Given the description of an element on the screen output the (x, y) to click on. 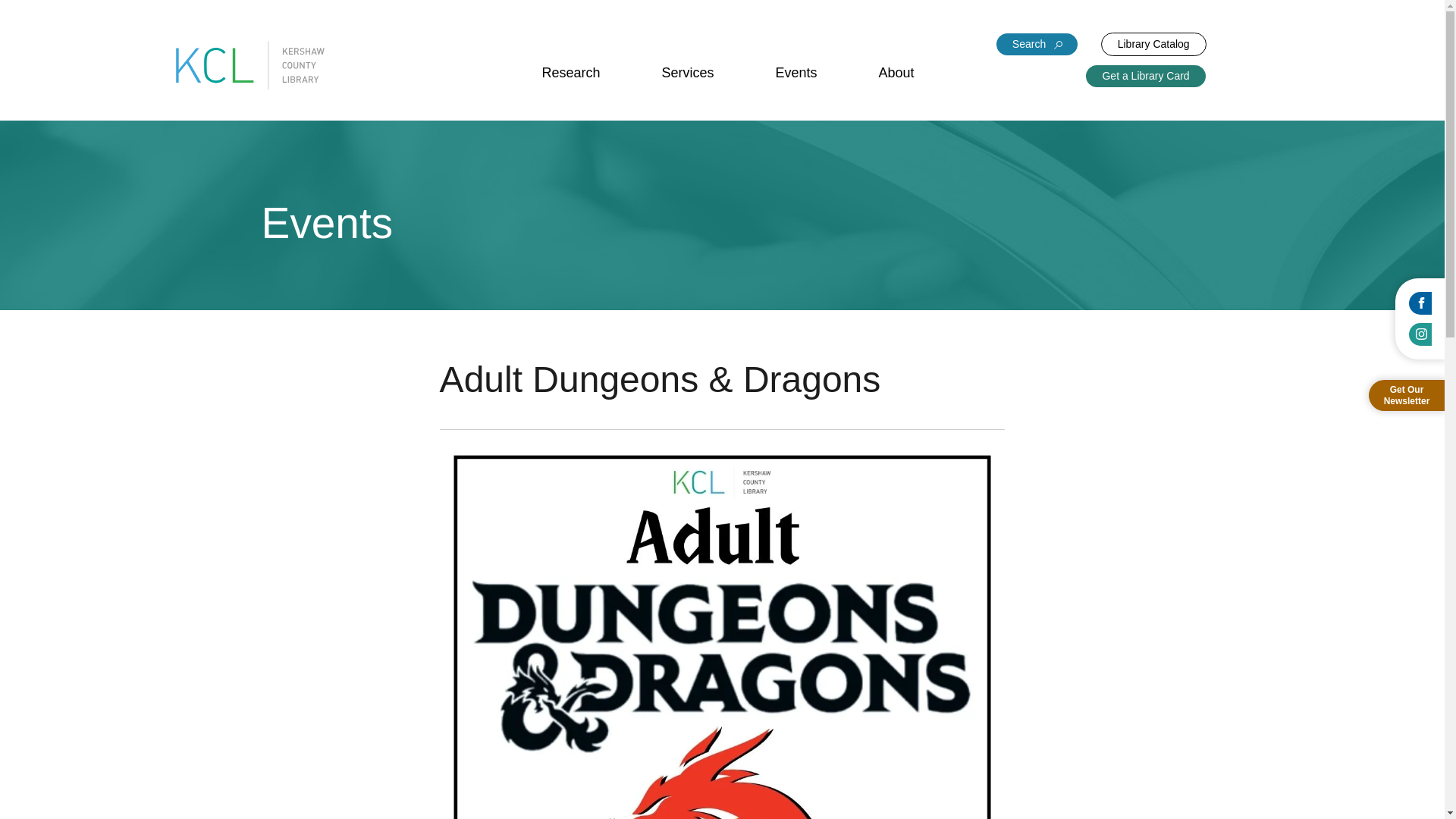
Library Catalog (1153, 44)
Search (1036, 44)
About (896, 72)
Research (570, 72)
Events (796, 72)
Get a Library Card (1145, 75)
Services (688, 72)
